Given the description of an element on the screen output the (x, y) to click on. 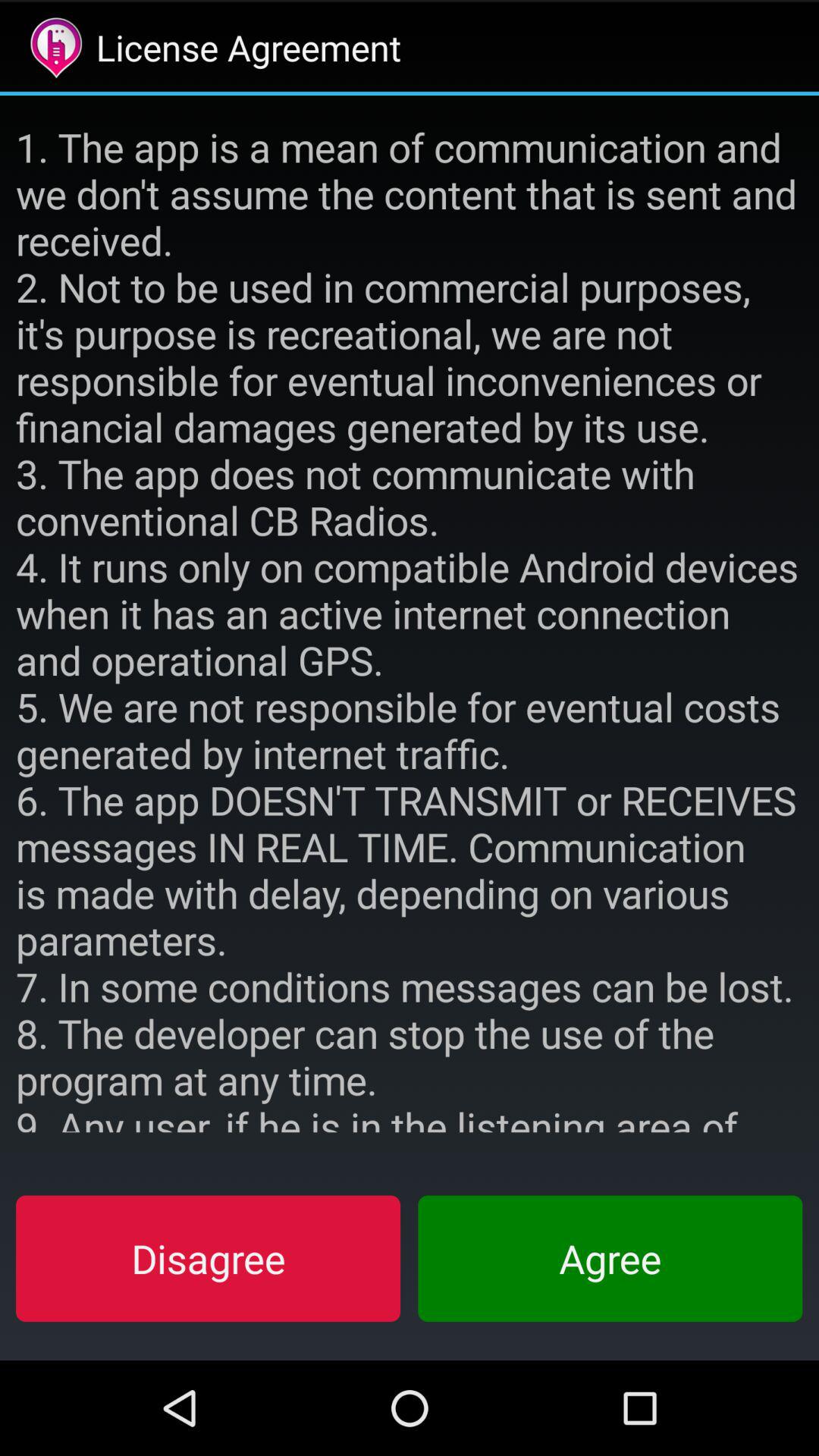
tap icon to the left of agree button (207, 1258)
